Given the description of an element on the screen output the (x, y) to click on. 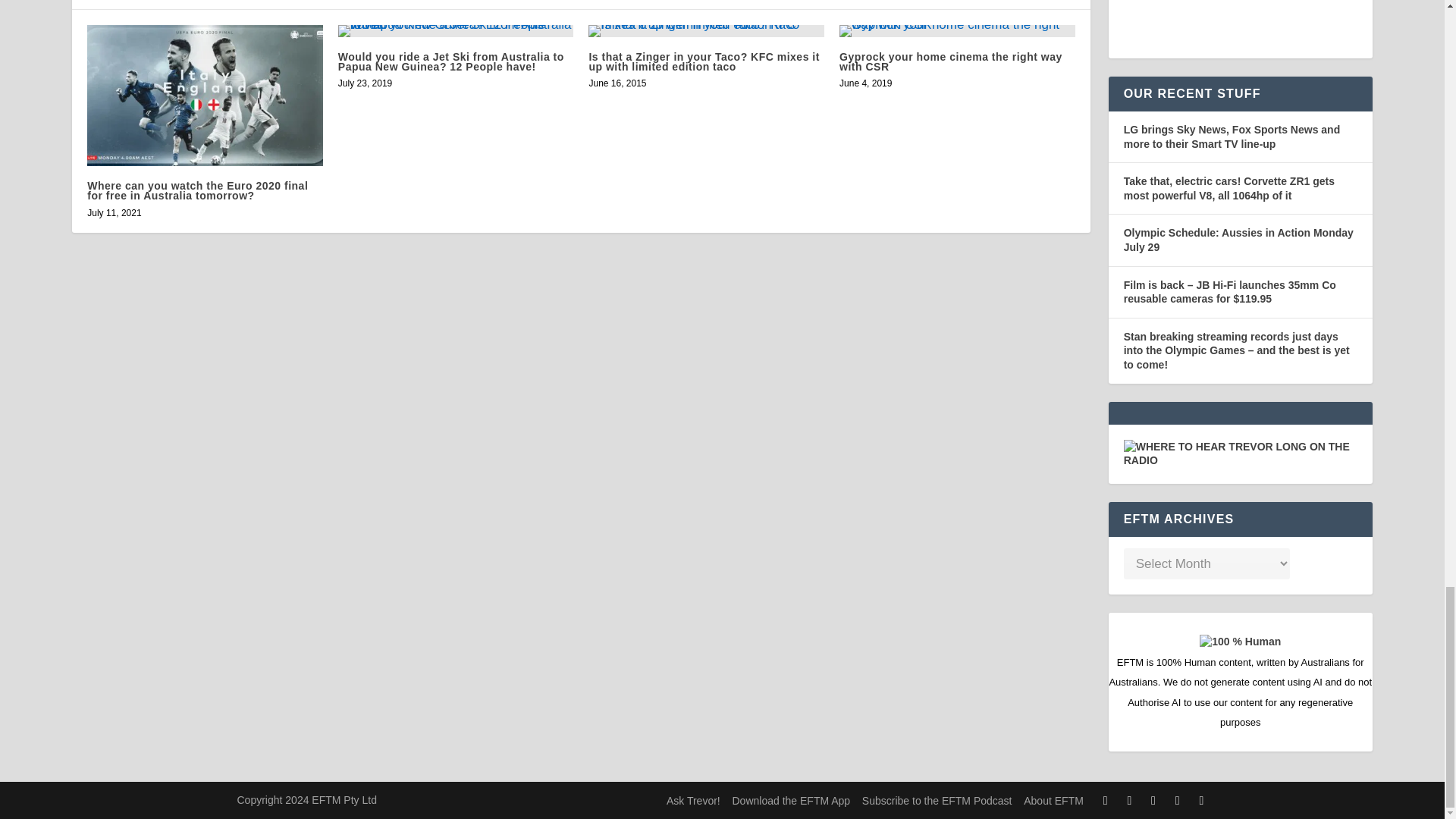
Gyprock your home cinema the right way with CSR (957, 30)
